Given the description of an element on the screen output the (x, y) to click on. 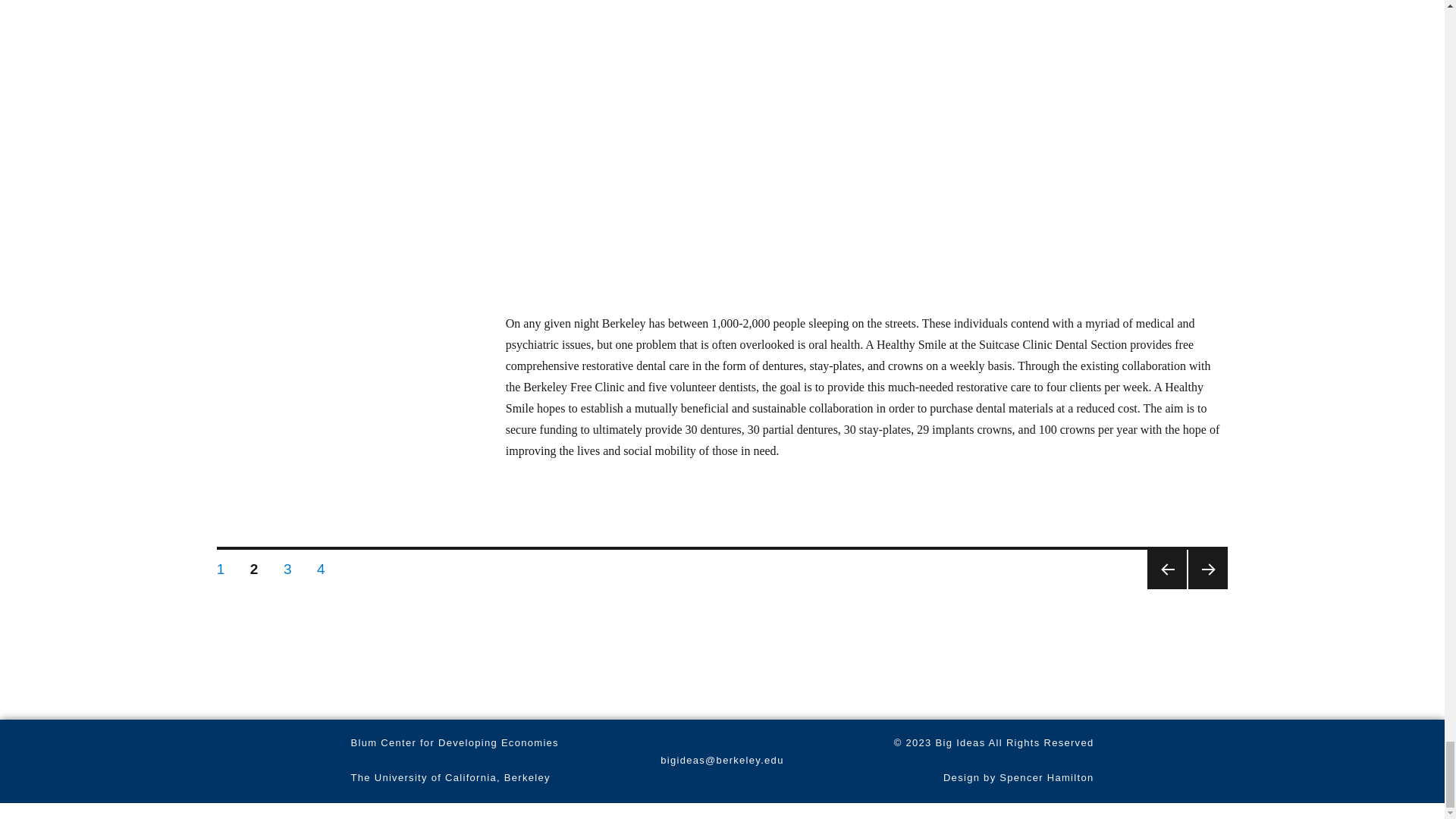
4 (320, 565)
1 (220, 565)
3 (287, 565)
PREVIOUS PAGE (1166, 568)
NEXT PAGE (1207, 568)
